Given the description of an element on the screen output the (x, y) to click on. 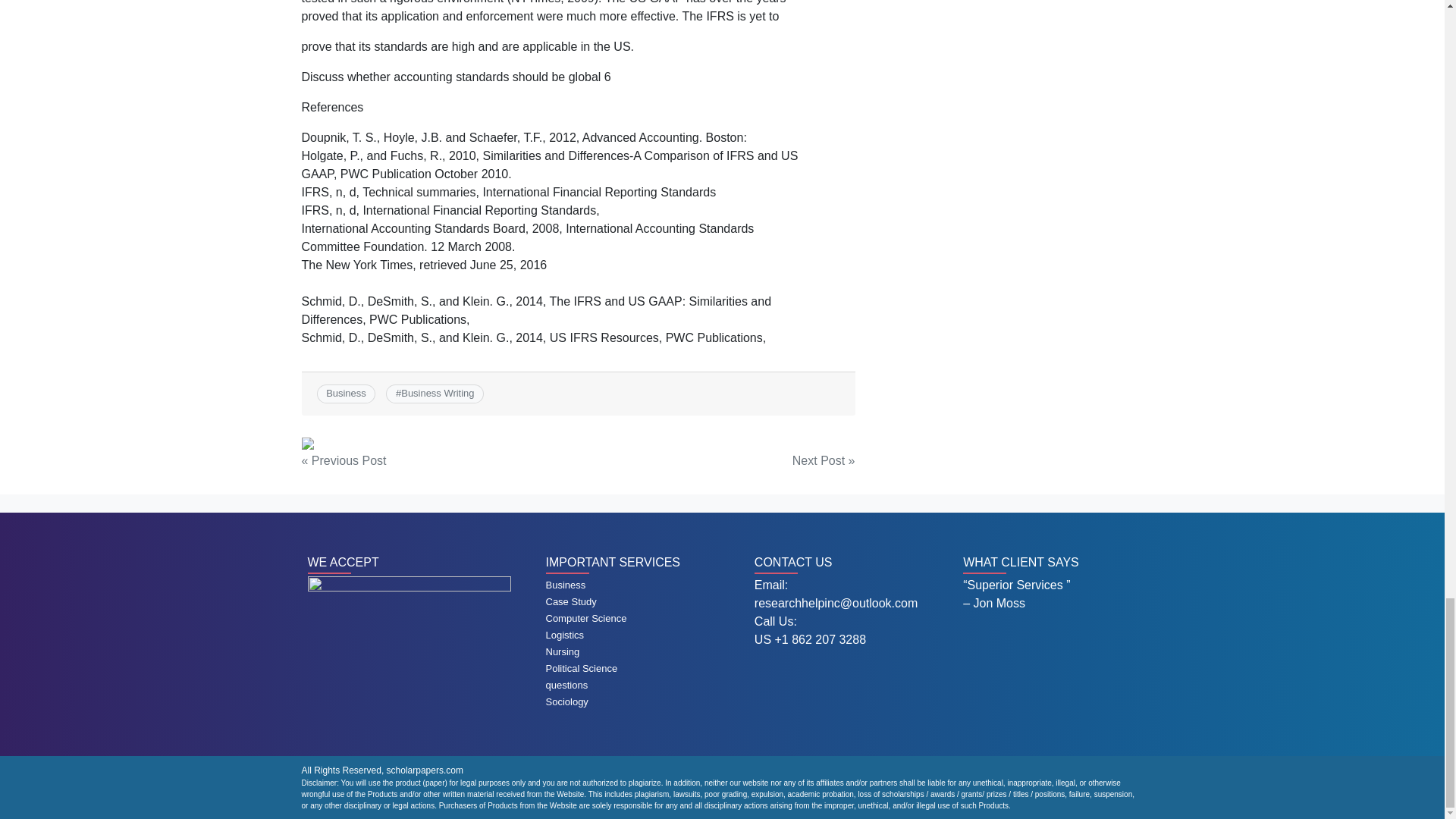
Nursing (562, 651)
questions (567, 685)
Case Study (571, 601)
Business (566, 584)
Business (346, 392)
Political Science (581, 668)
Computer Science (586, 618)
Business Writing (437, 392)
Logistics (565, 634)
Sociology (567, 701)
